Given the description of an element on the screen output the (x, y) to click on. 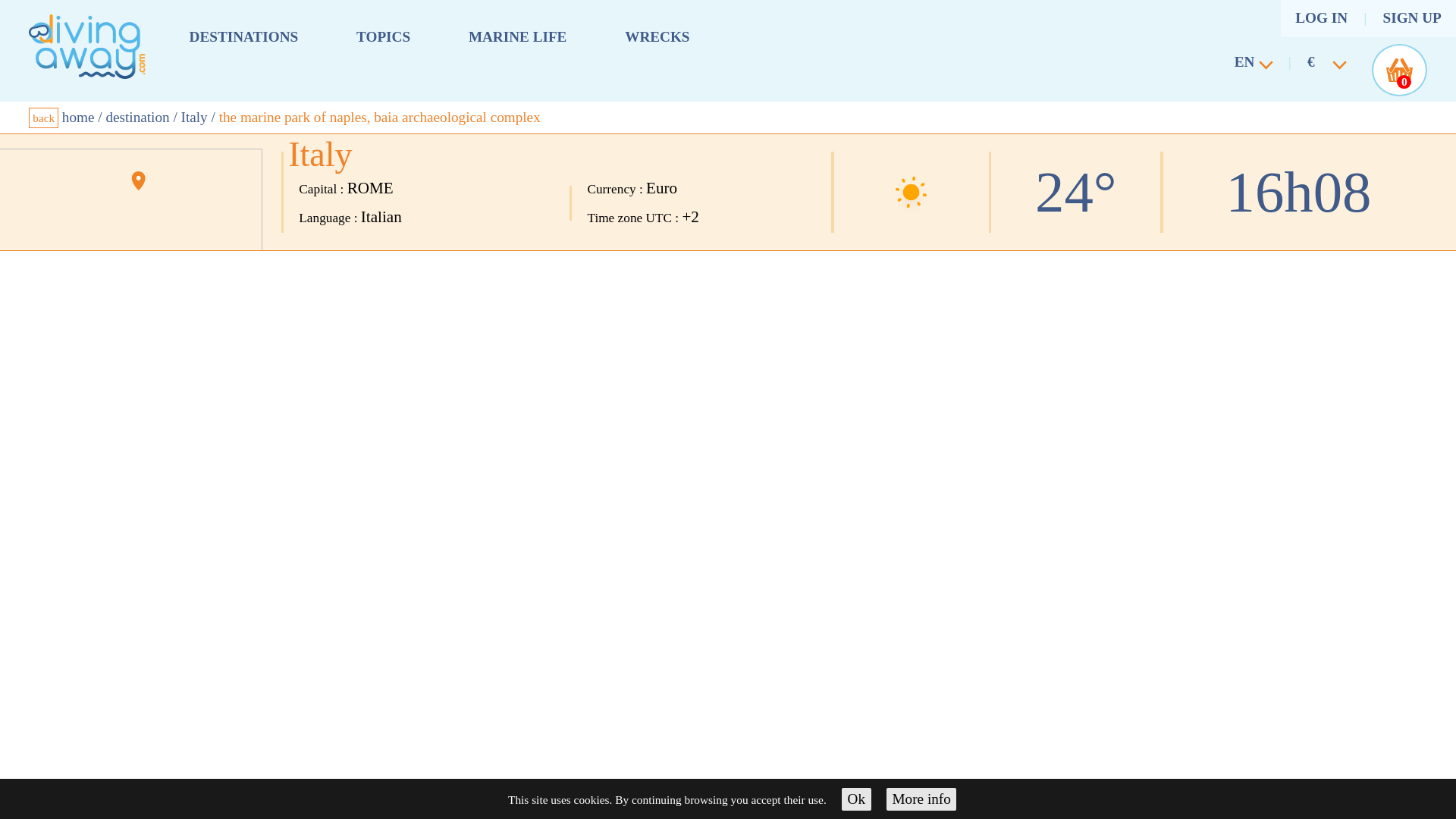
WRECKS (656, 36)
DESTINATIONS (243, 36)
Italy (194, 116)
EN (1247, 65)
Ok (855, 798)
Hide the toolbar (921, 798)
home (78, 116)
MARINE LIFE (517, 36)
LOG IN (1321, 18)
Masquer cette barre (855, 798)
